Given the description of an element on the screen output the (x, y) to click on. 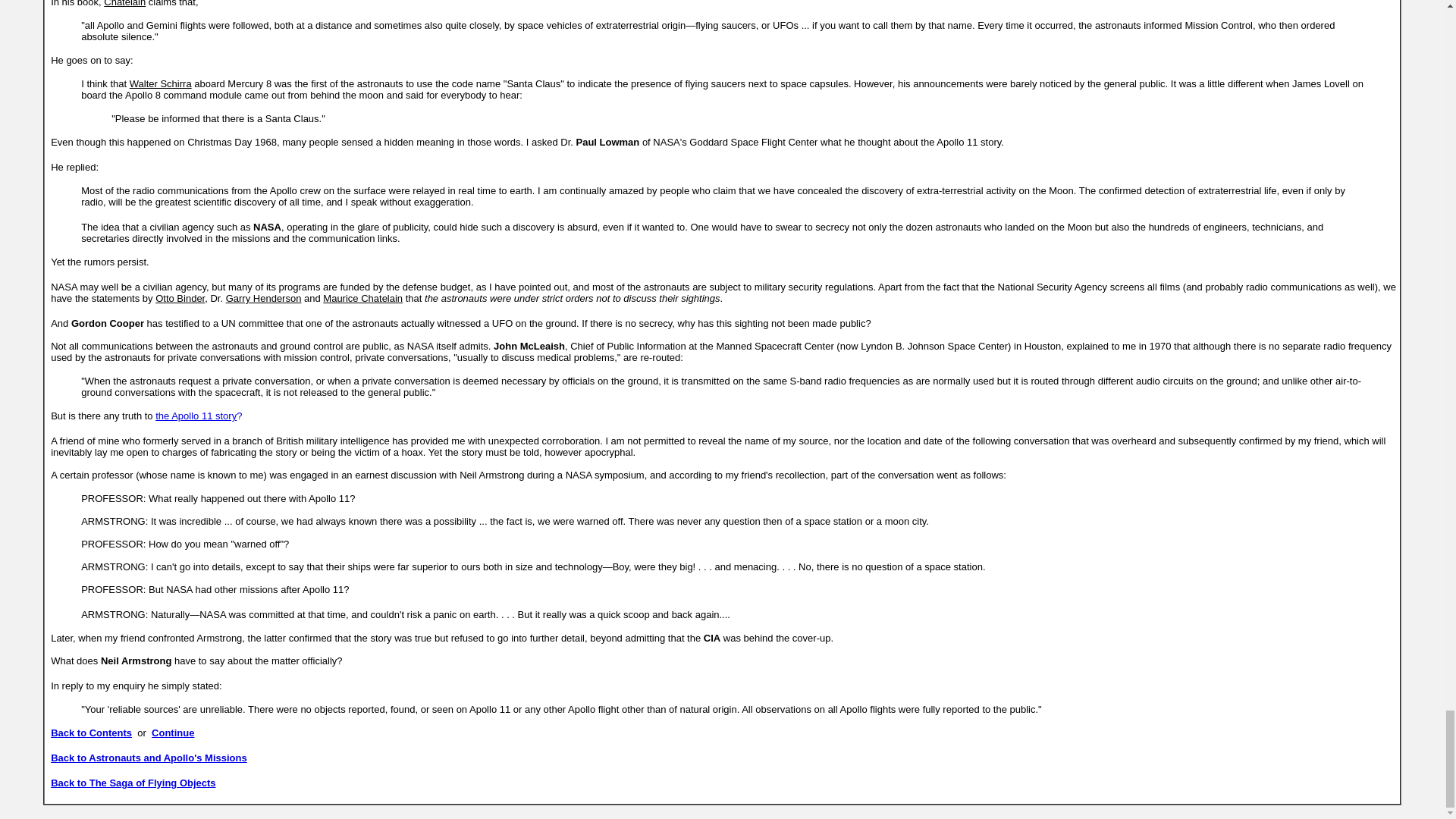
Back to Contents (91, 732)
Back to The Saga of Flying Objects (132, 782)
Continue (172, 732)
the Apollo 11 story (195, 415)
Back to Astronauts and Apollo's Missions (148, 757)
